Given the description of an element on the screen output the (x, y) to click on. 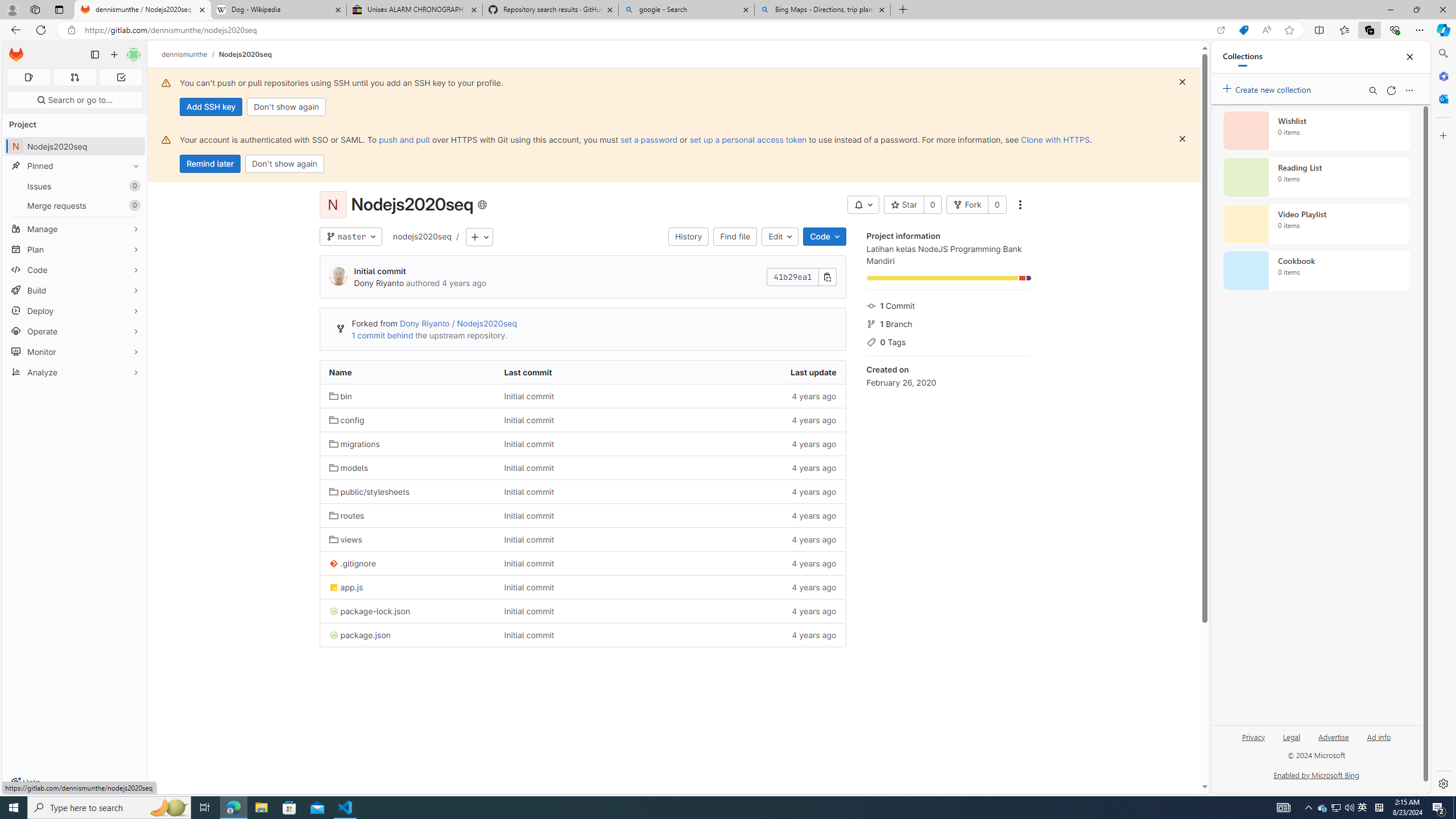
Homepage (16, 54)
app.js (346, 587)
Initial commit (528, 634)
.gitignore (407, 563)
public/stylesheets (407, 491)
Help (25, 782)
Merge requests0 (74, 205)
Create new collection (1268, 87)
bin (407, 396)
master (349, 236)
Class: s16 icon (482, 204)
Manage (74, 228)
